Given the description of an element on the screen output the (x, y) to click on. 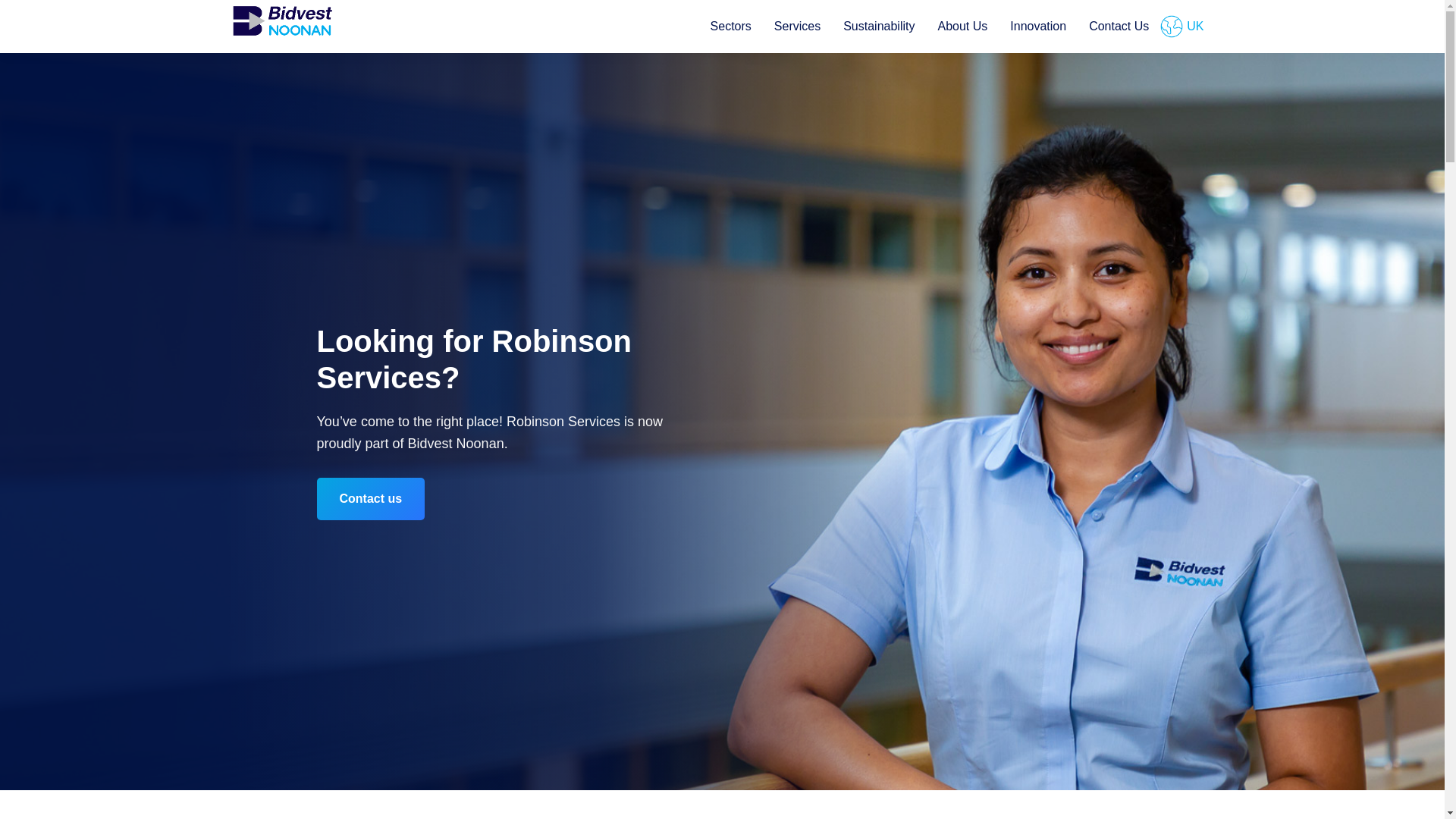
Sustainability (878, 26)
Contact Us (1118, 26)
UK (1187, 26)
Services (796, 26)
Innovation (1037, 26)
About Us (962, 26)
Contact us (371, 498)
Sectors (730, 26)
